Given the description of an element on the screen output the (x, y) to click on. 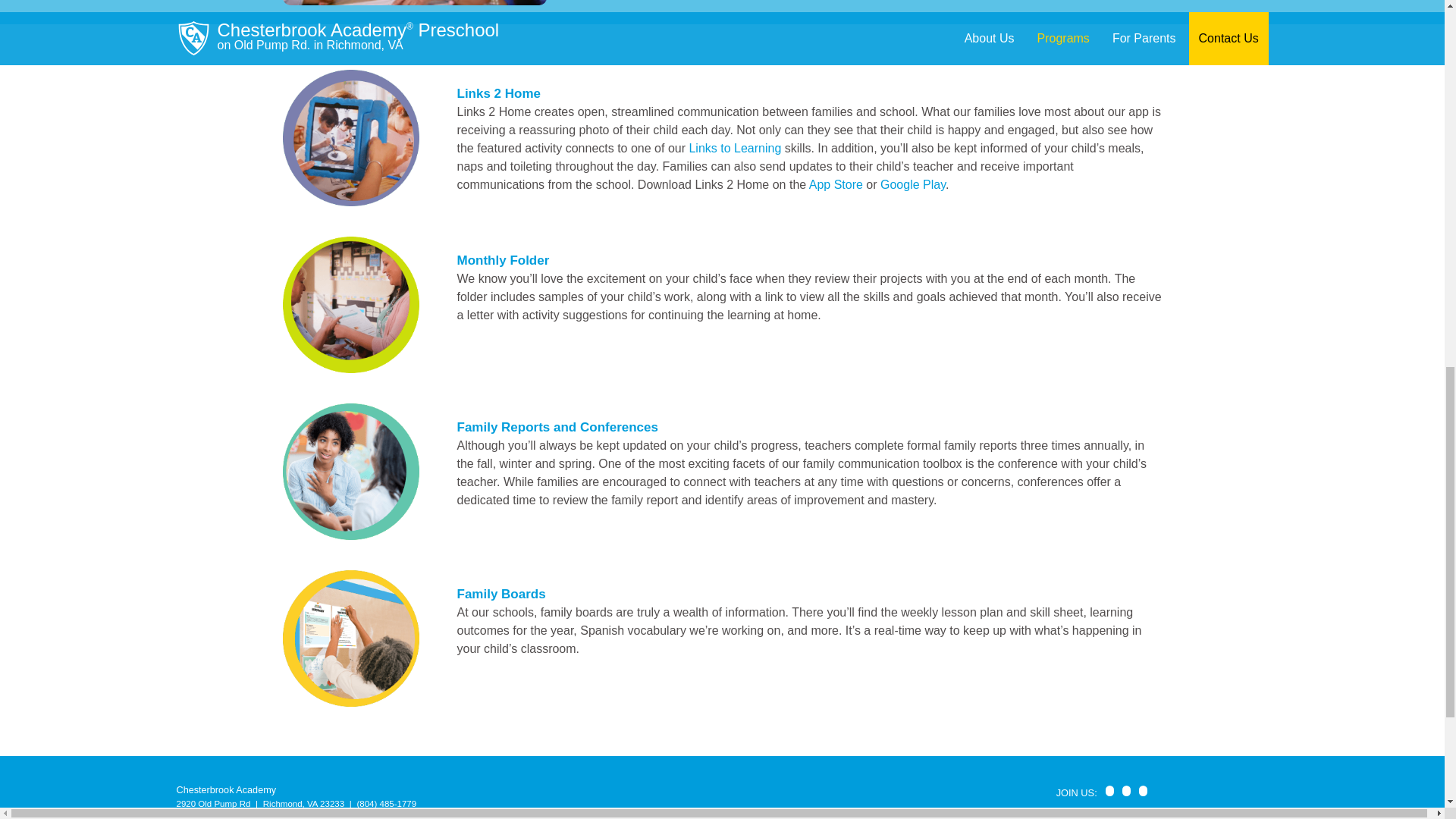
Google Play (912, 184)
Links to Learning (734, 147)
App Store (836, 184)
App Store  (836, 184)
Links to Learning (734, 147)
Google Play (912, 184)
